Given the description of an element on the screen output the (x, y) to click on. 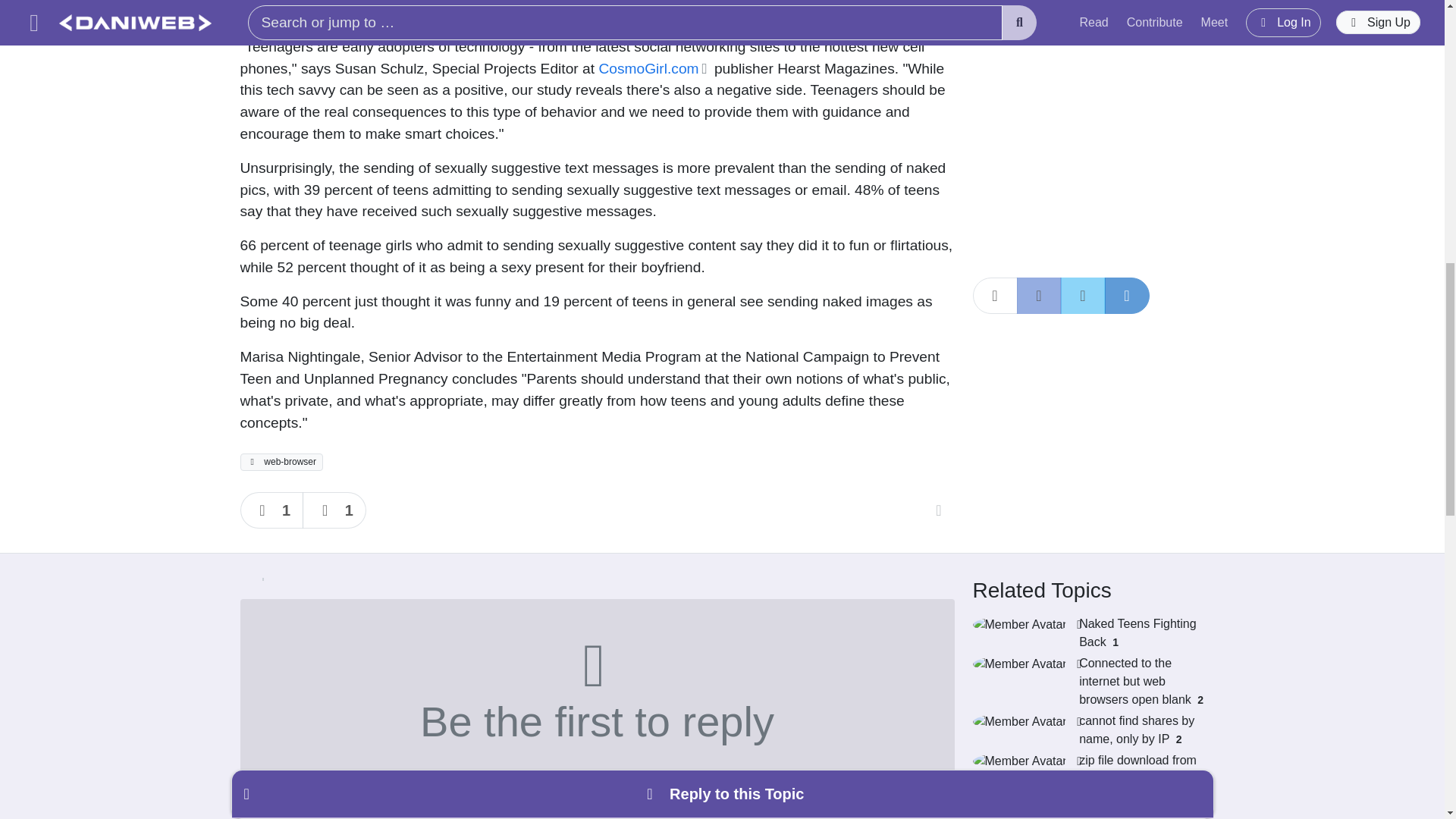
1 (334, 510)
cannot find shares by name, only by IP 2 (1088, 729)
My PC Keeps Shutting Off! 5 (1088, 805)
Twitter (1082, 38)
zip file download from web browsers 7 (1088, 769)
LinkedIn (1125, 38)
Share (994, 38)
CosmoGirl.com (654, 68)
Naked Teens Fighting Back 1 (1088, 633)
Connected to the internet but web browsers open blank 2 (1088, 681)
